Given the description of an element on the screen output the (x, y) to click on. 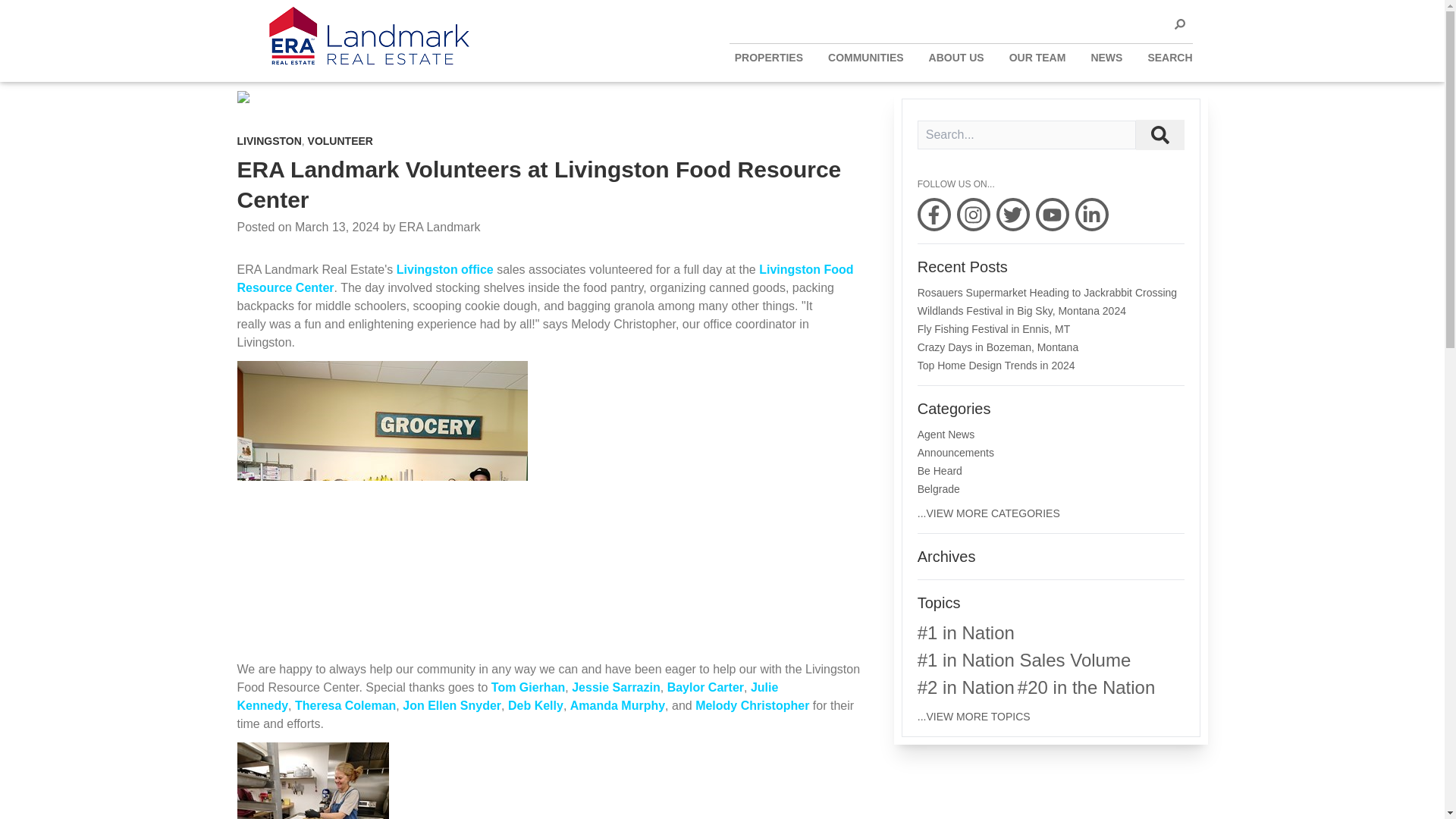
Baylor Carter (705, 686)
COMMUNITIES (866, 57)
Julie Kennedy (506, 695)
Amanda Murphy (617, 705)
Tom Gierhan (529, 686)
Homepage (362, 38)
ABOUT US (956, 57)
Deb Kelly (535, 705)
undefined on Facebook (933, 214)
Jessie Sarrazin (616, 686)
PROPERTIES (769, 57)
undefined on LinkedIn (1091, 214)
undefined on Instagram (973, 214)
Livingston (444, 269)
undefined on YouTube (1051, 214)
